Given the description of an element on the screen output the (x, y) to click on. 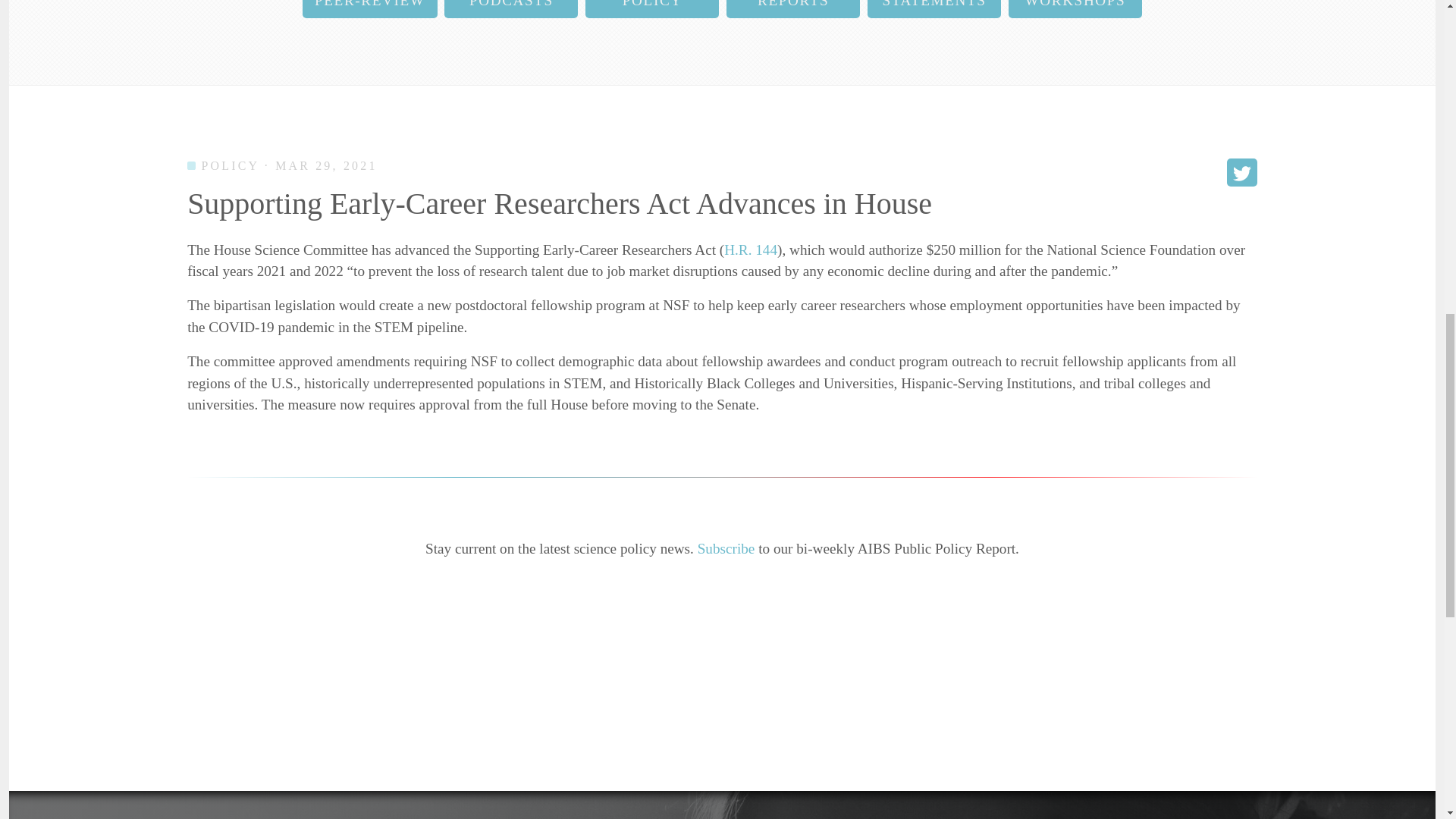
Share on Twitter (1242, 172)
PODCASTS (511, 9)
WORKSHOPS (1075, 9)
Subscribe (726, 548)
REPORTS (793, 9)
POLICY (652, 9)
PEER-REVIEW (370, 9)
H.R. 144 (750, 249)
STATEMENTS (934, 9)
